Given the description of an element on the screen output the (x, y) to click on. 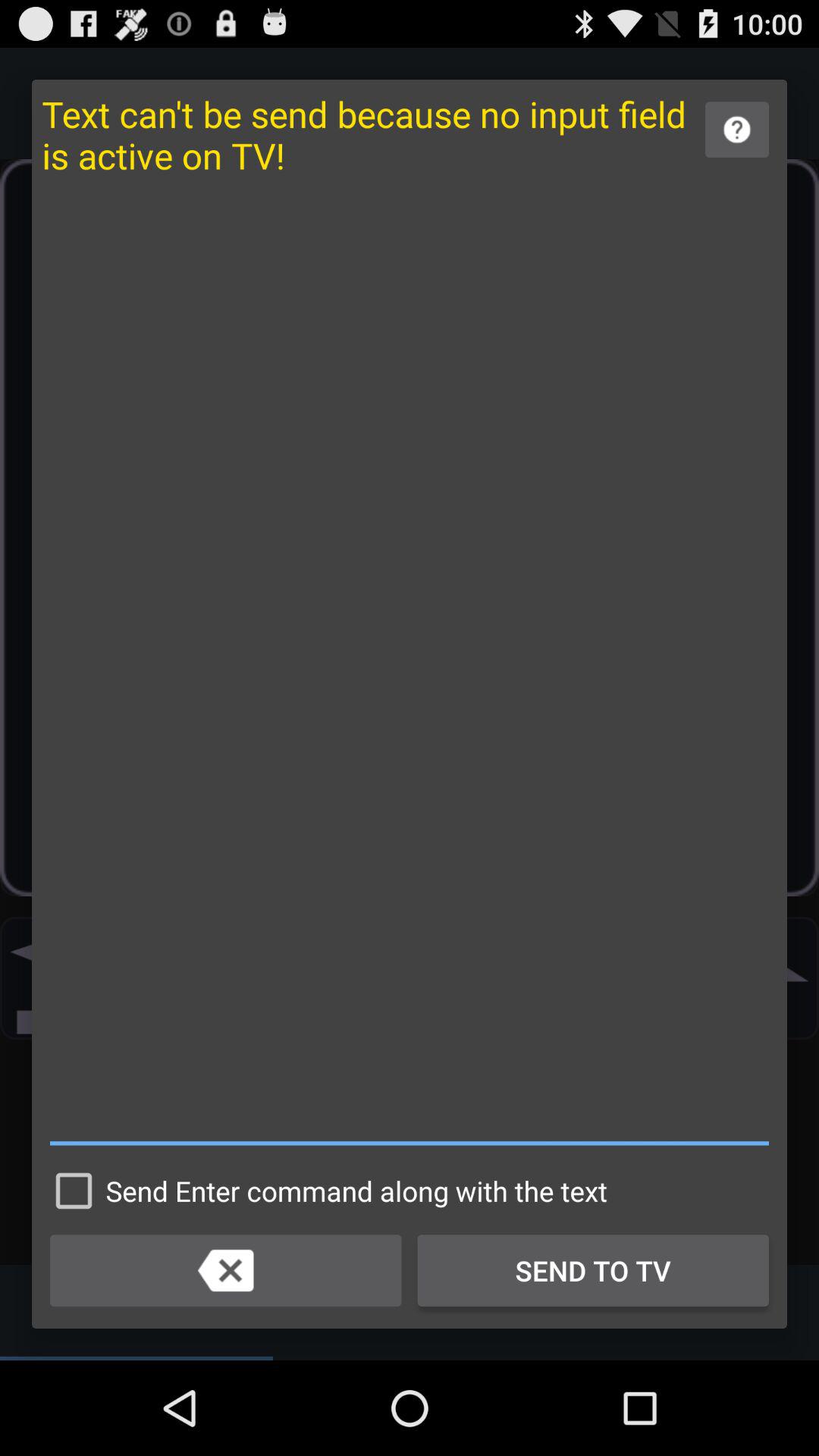
press icon above   item (736, 129)
